Given the description of an element on the screen output the (x, y) to click on. 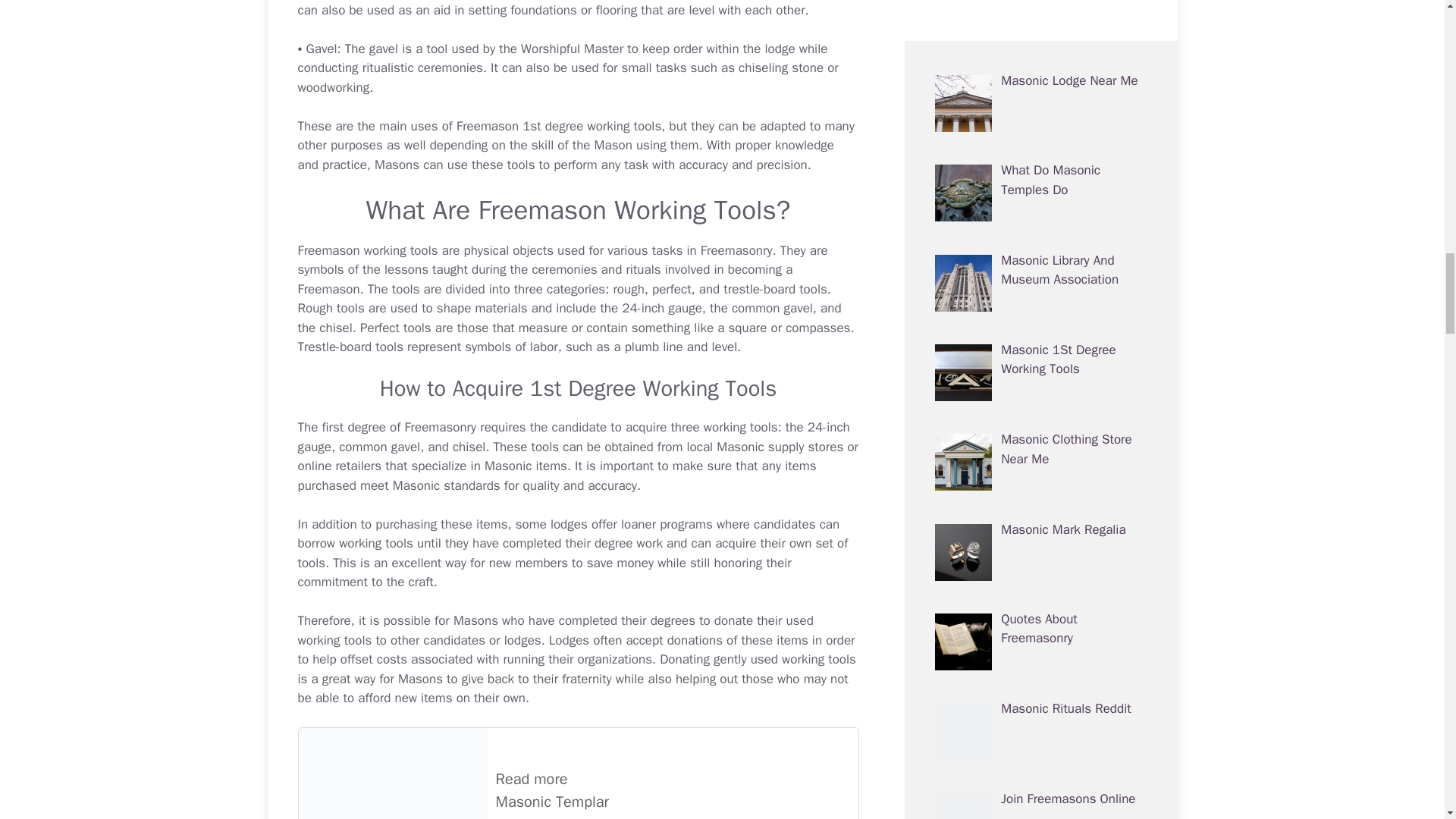
Antique Masonic Items (577, 456)
Masons (474, 620)
becoming a Freemason (544, 279)
Masonic Blue Lodge Aprons (474, 620)
Freemasonry (736, 250)
How To Become A Freemason Uk (578, 773)
Freemasonry (544, 279)
